Given the description of an element on the screen output the (x, y) to click on. 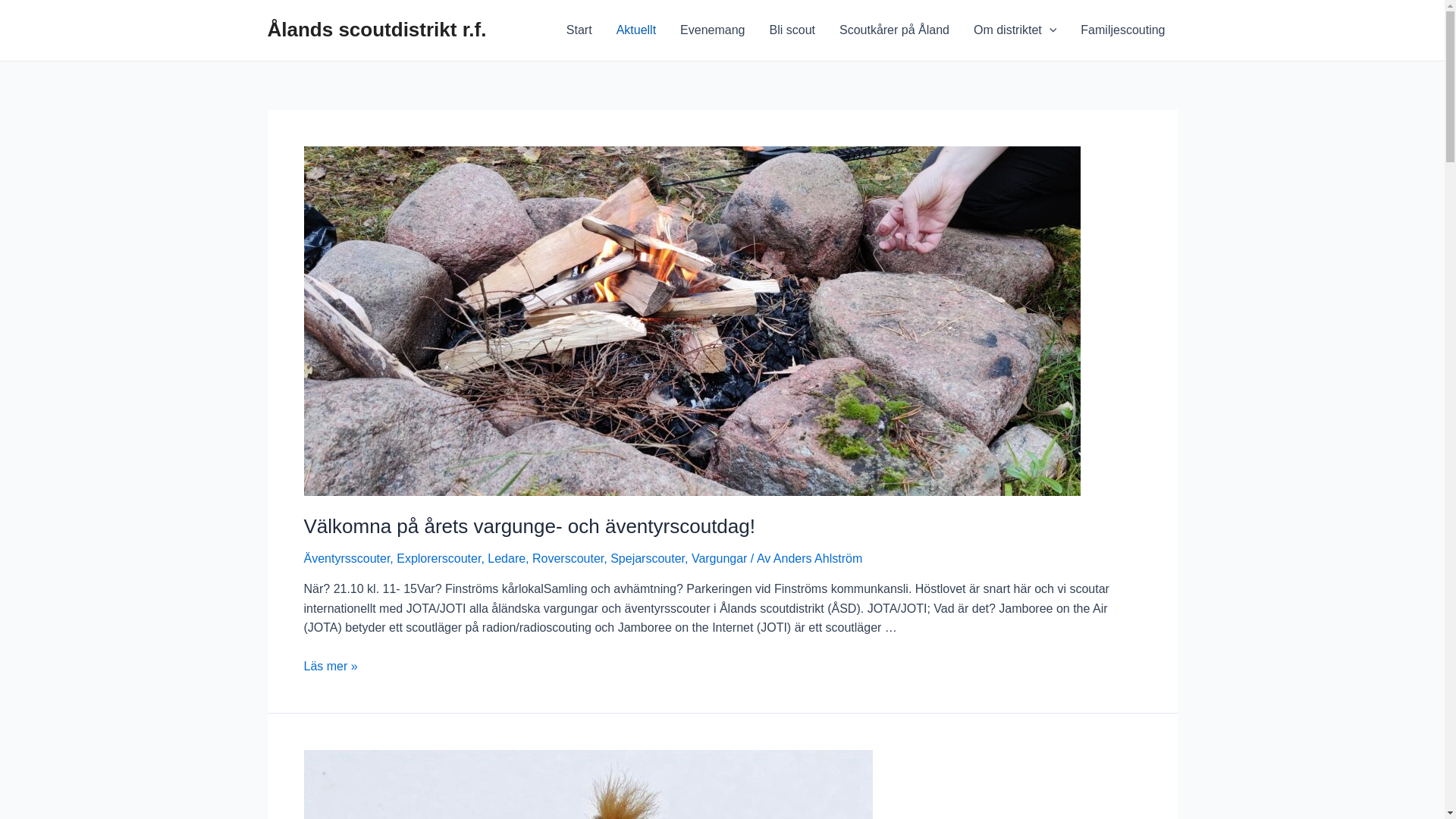
Aktuellt Element type: text (636, 30)
Explorerscouter Element type: text (438, 558)
Ledare Element type: text (506, 558)
Vargungar Element type: text (719, 558)
Spejarscouter Element type: text (647, 558)
Roverscouter Element type: text (567, 558)
Start Element type: text (579, 30)
Om distriktet Element type: text (1014, 30)
Bli scout Element type: text (791, 30)
Evenemang Element type: text (712, 30)
Familjescouting Element type: text (1122, 30)
